Given the description of an element on the screen output the (x, y) to click on. 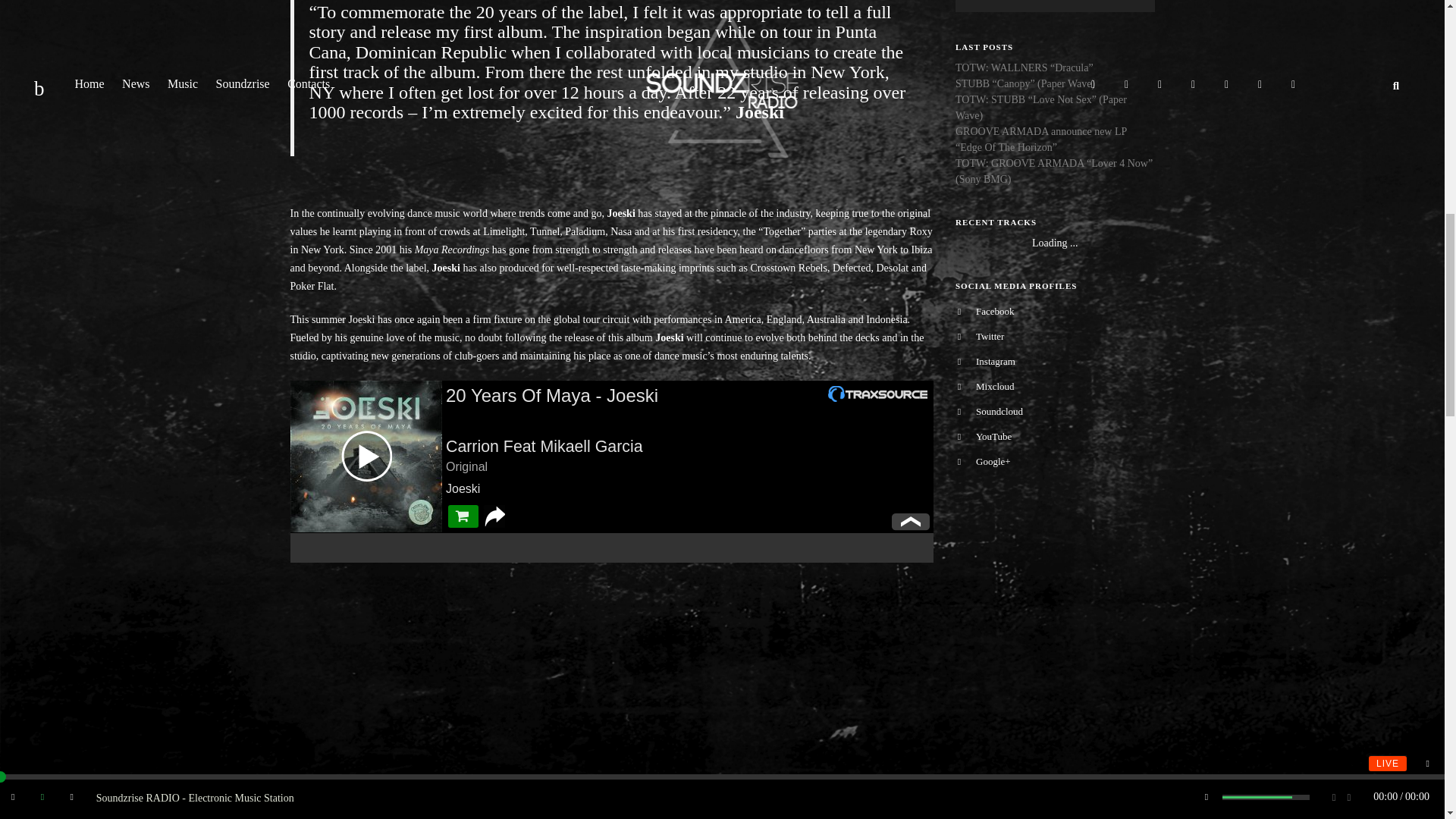
Facebook (1054, 310)
VIEW ALL SHOWS (1054, 6)
